Given the description of an element on the screen output the (x, y) to click on. 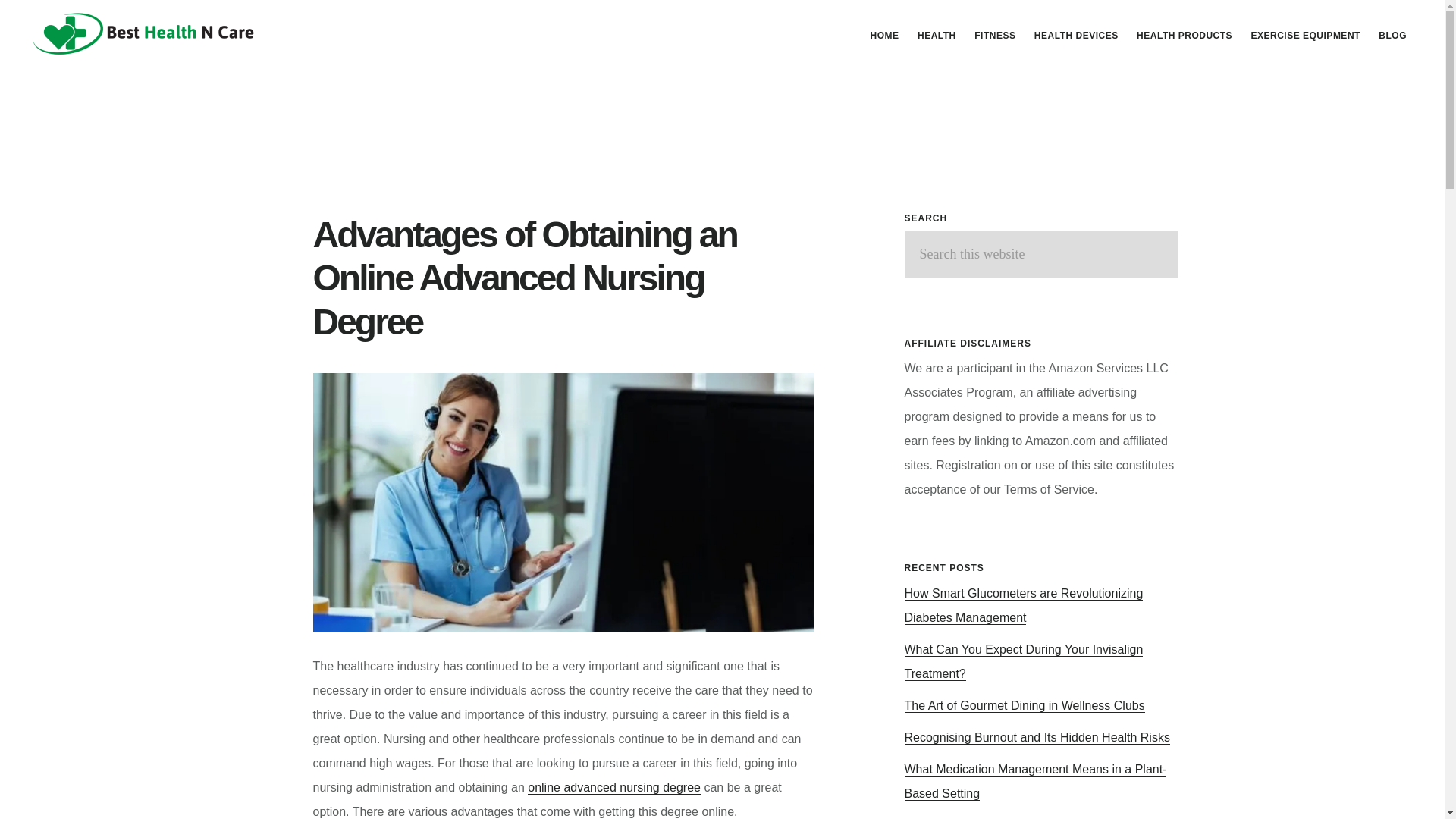
EXERCISE EQUIPMENT (1305, 35)
HOME (885, 35)
Advanced nursing degree online (562, 501)
FITNESS (994, 35)
HEALTH DEVICES (1075, 35)
HEALTH PRODUCTS (1184, 35)
HEALTH (936, 35)
BEST HEALTH N CARE (143, 32)
online advanced nursing degree (613, 787)
BLOG (1392, 35)
